Given the description of an element on the screen output the (x, y) to click on. 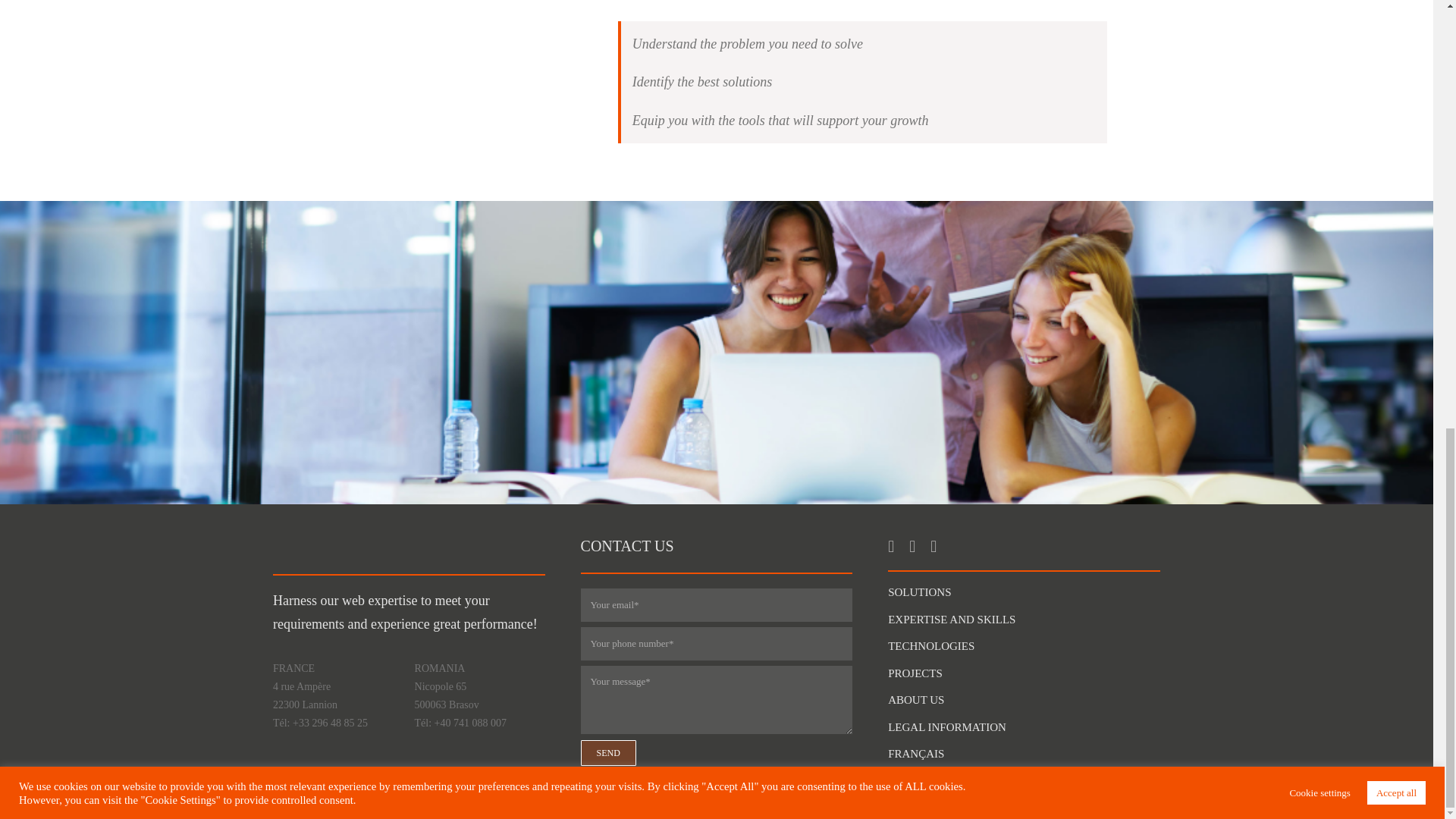
Solstys (349, 542)
SEND (608, 752)
SEND (716, 683)
